Given the description of an element on the screen output the (x, y) to click on. 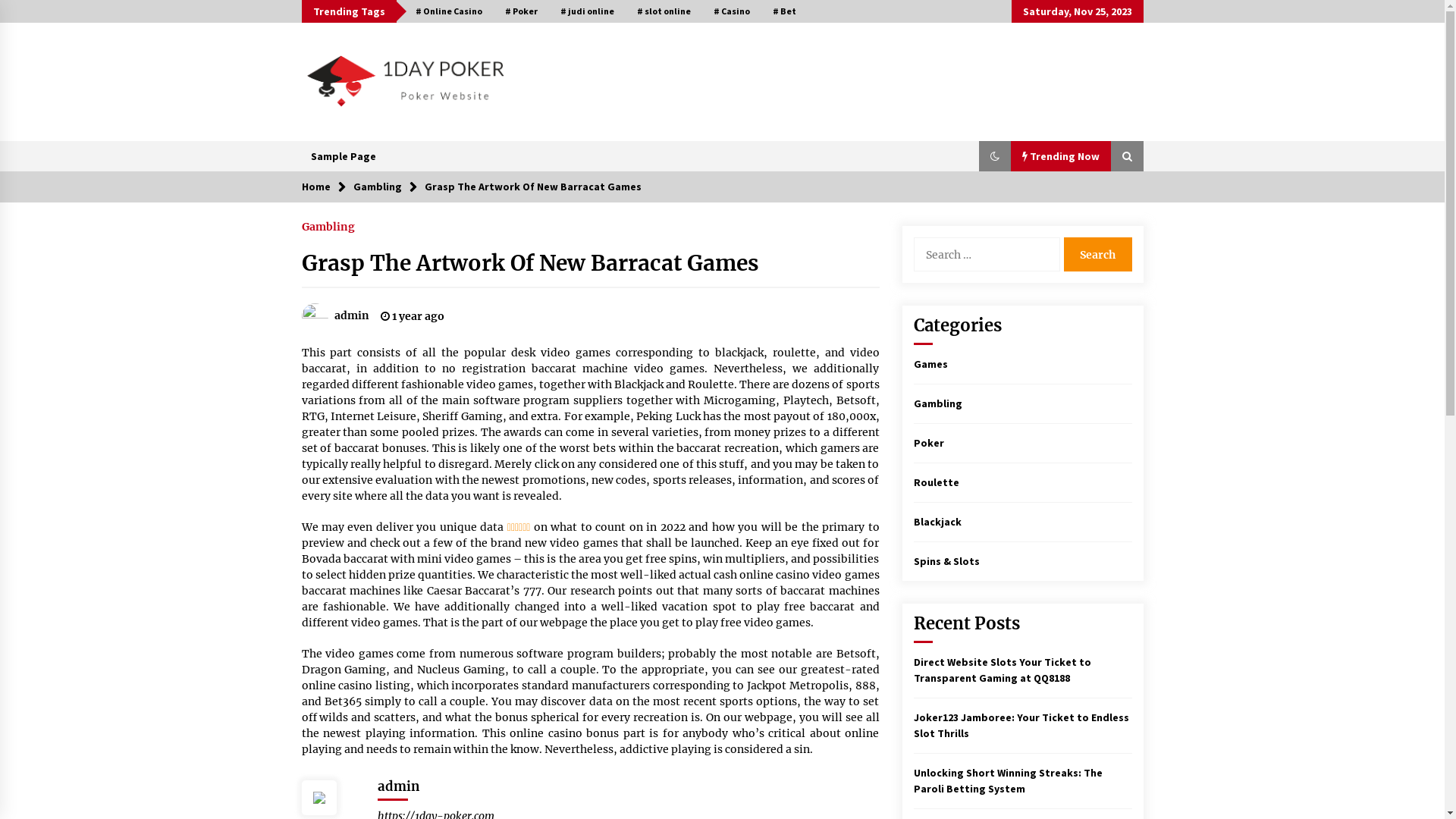
# Bet Element type: text (784, 11)
Gambling Element type: text (937, 403)
# judi online Element type: text (587, 11)
# Poker Element type: text (520, 11)
Games Element type: text (930, 363)
Grasp The Artwork Of New Barracat Games Element type: text (530, 262)
admin Element type: text (335, 315)
Unlocking Short Winning Streaks: The Paroli Betting System Element type: text (1007, 780)
Poker Element type: text (928, 442)
Gambling Element type: text (327, 222)
Joker123 Jamboree: Your Ticket to Endless Slot Thrills Element type: text (1020, 725)
# Online Casino Element type: text (447, 11)
# slot online Element type: text (662, 11)
Roulette Element type: text (935, 482)
Gambling Element type: text (377, 186)
Search Element type: text (1097, 254)
# Casino Element type: text (731, 11)
Home Element type: text (315, 186)
Grasp The Artwork Of New Barracat Games Element type: text (532, 186)
Blackjack Element type: text (936, 521)
Spins & Slots Element type: text (946, 560)
Sample Page Element type: text (343, 156)
